Given the description of an element on the screen output the (x, y) to click on. 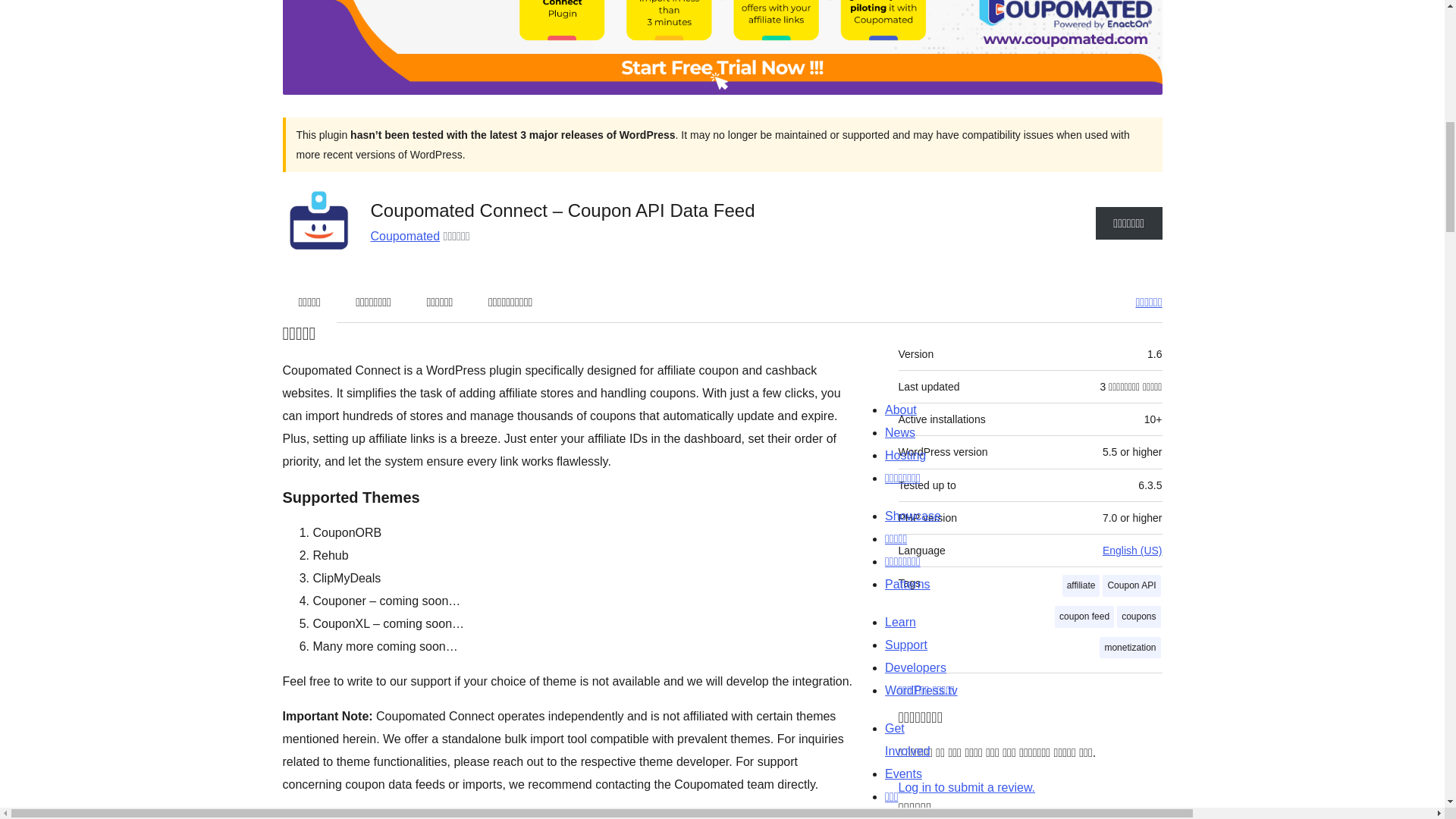
Coupomated (404, 235)
Log in to WordPress.org (966, 787)
